Given the description of an element on the screen output the (x, y) to click on. 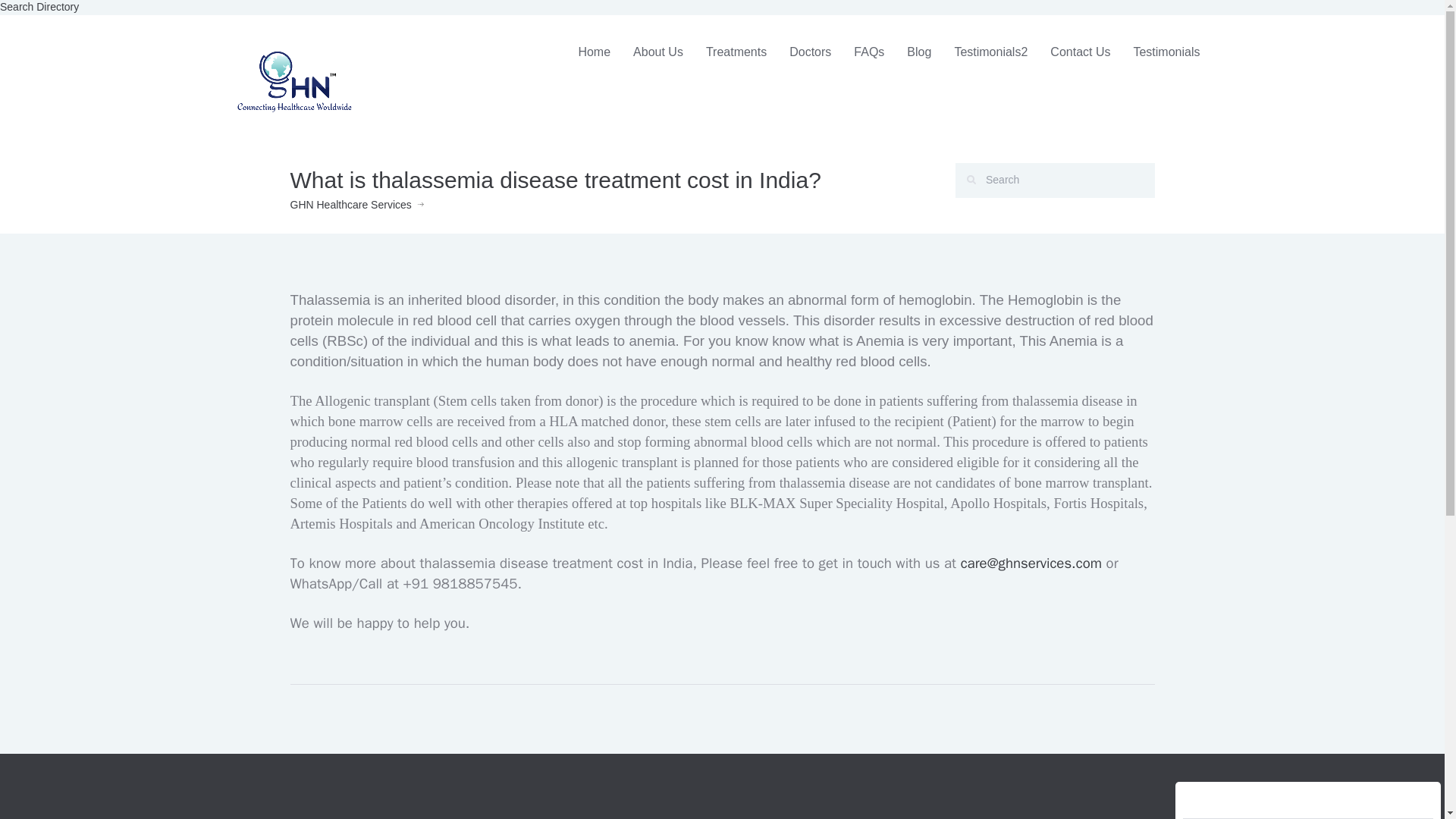
Testimonials2 (990, 52)
Home (593, 52)
FAQs (869, 52)
Doctors (810, 52)
Treatments (735, 52)
Search Directory (39, 6)
Testimonials (1166, 52)
Contact Us (1080, 52)
GHN Healthcare Services (349, 205)
About Us (657, 52)
